Given the description of an element on the screen output the (x, y) to click on. 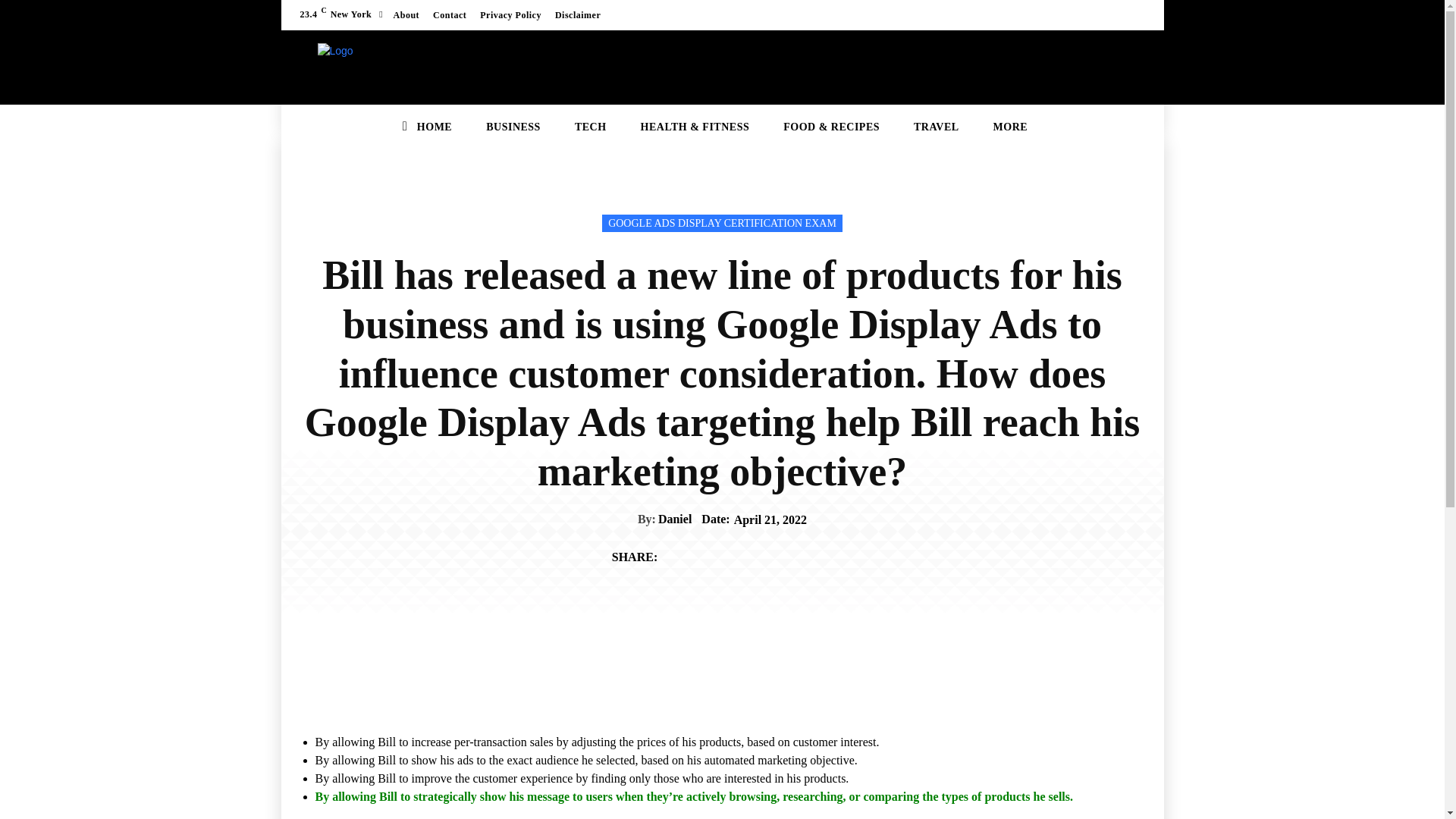
Privacy Policy (510, 15)
BUSINESS (512, 126)
Disclaimer (577, 15)
Contact (449, 15)
HOME (434, 126)
About (406, 15)
